Given the description of an element on the screen output the (x, y) to click on. 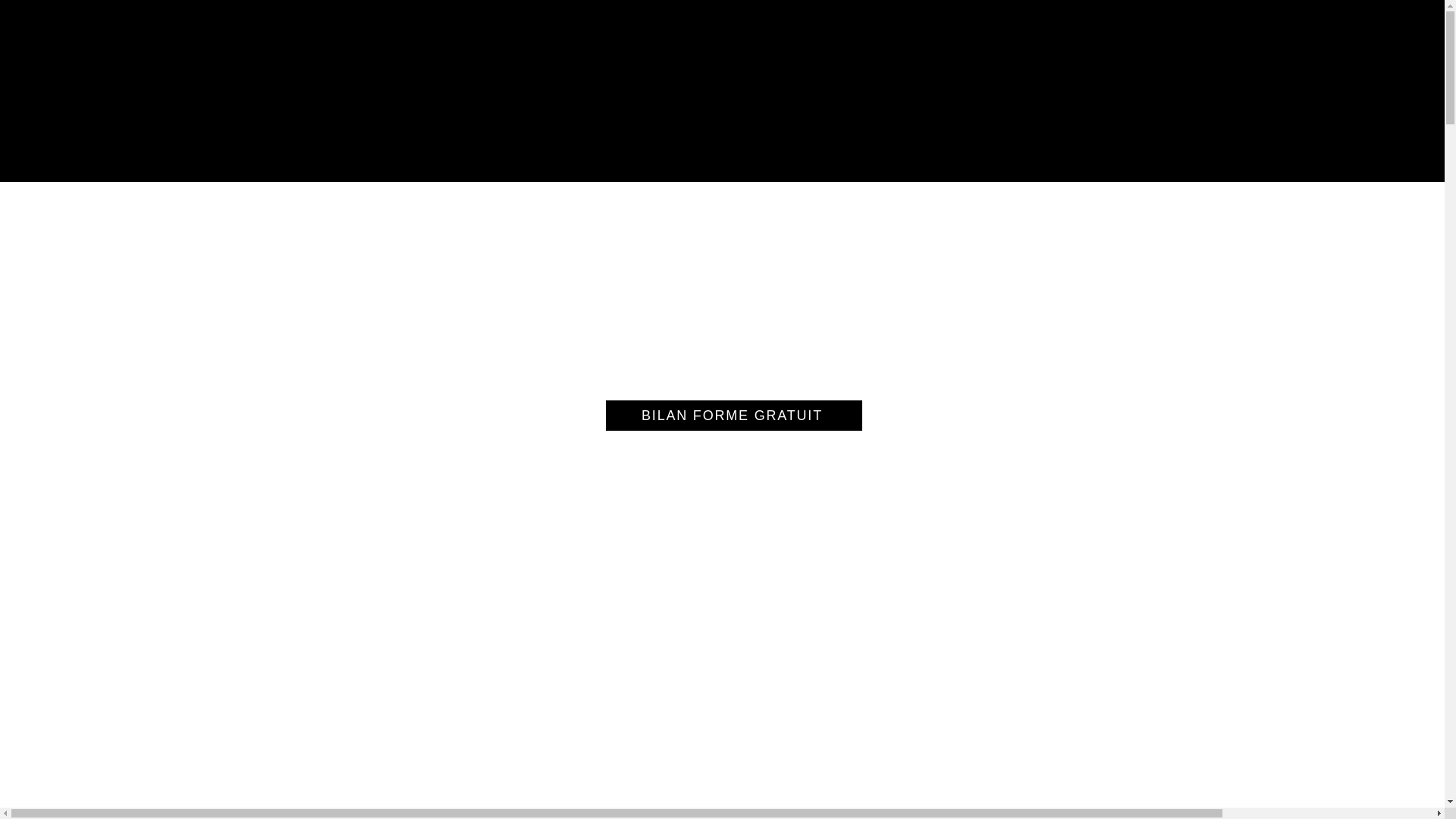
Accueil (558, 648)
Mentions legales (631, 648)
BILAN FORME GRATUIT (733, 415)
Boutique (708, 648)
